Given the description of an element on the screen output the (x, y) to click on. 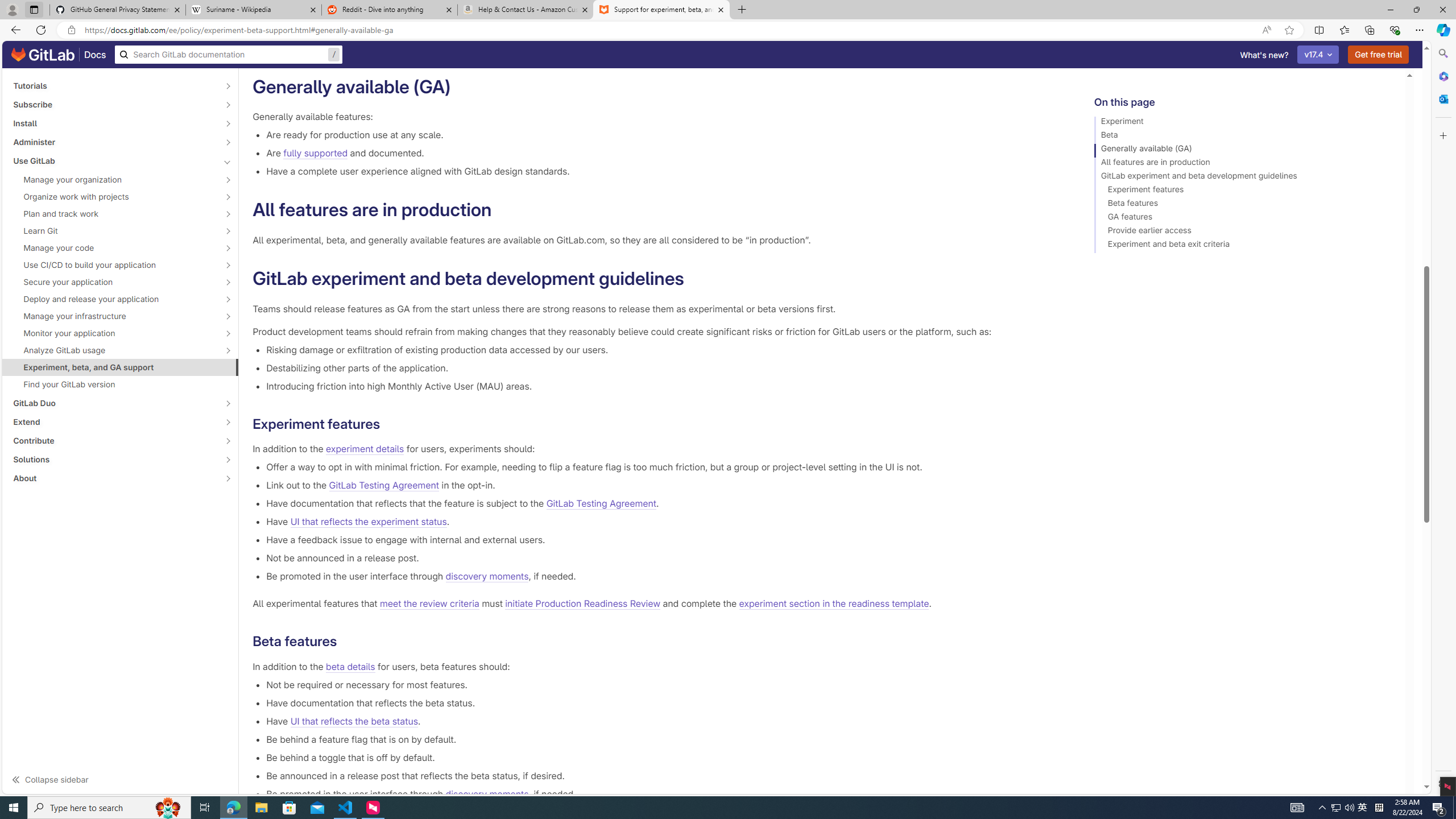
Secure your application (113, 281)
Organize work with projects (113, 196)
Experiment features (1244, 191)
GitLab Testing Agreement (601, 503)
What's new? (1263, 54)
Experiment (1244, 123)
